Given the description of an element on the screen output the (x, y) to click on. 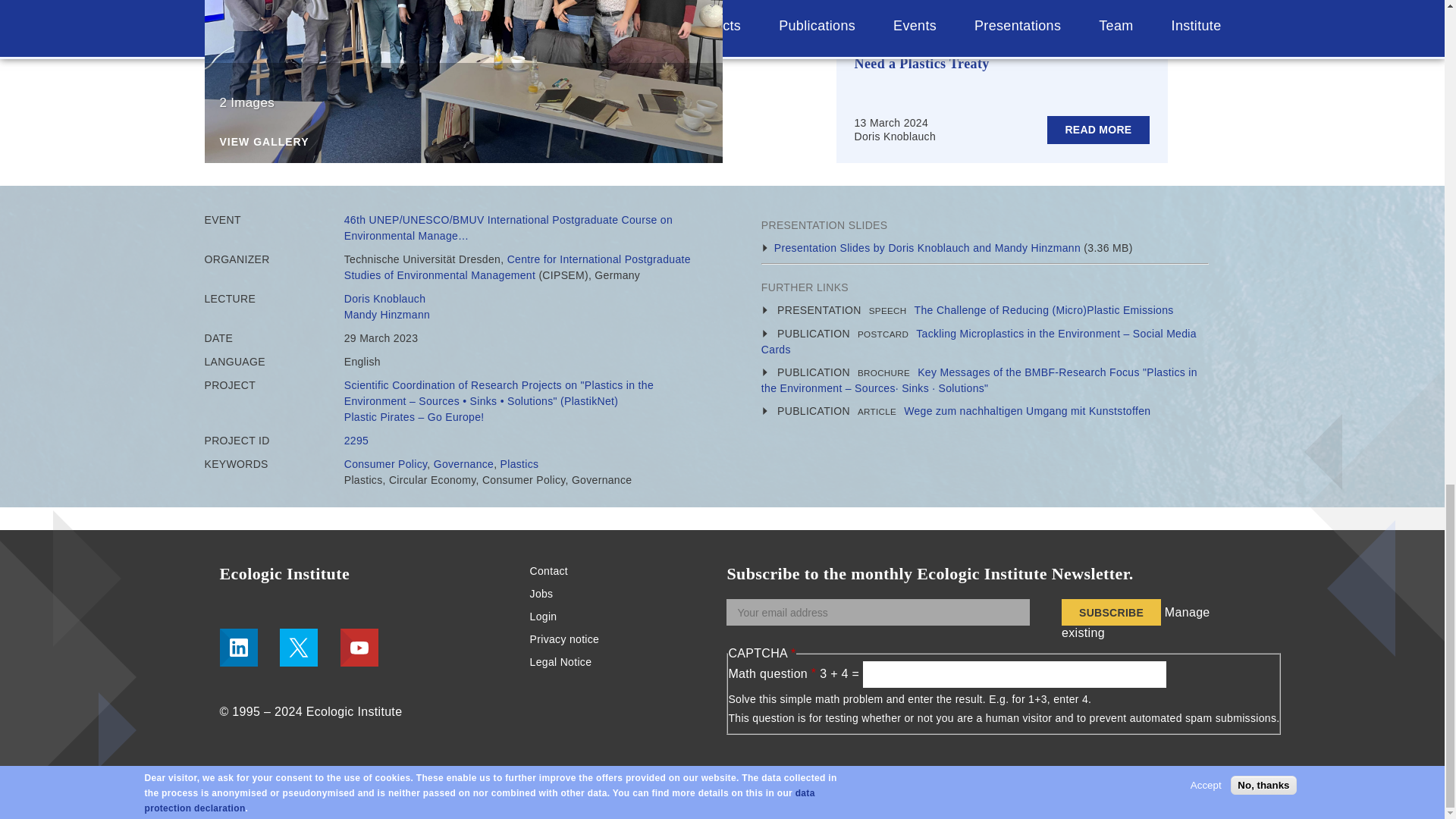
Subscribe (1110, 611)
Knoblauch-Hinzmann-2023-03-29.pdf (927, 247)
